Given the description of an element on the screen output the (x, y) to click on. 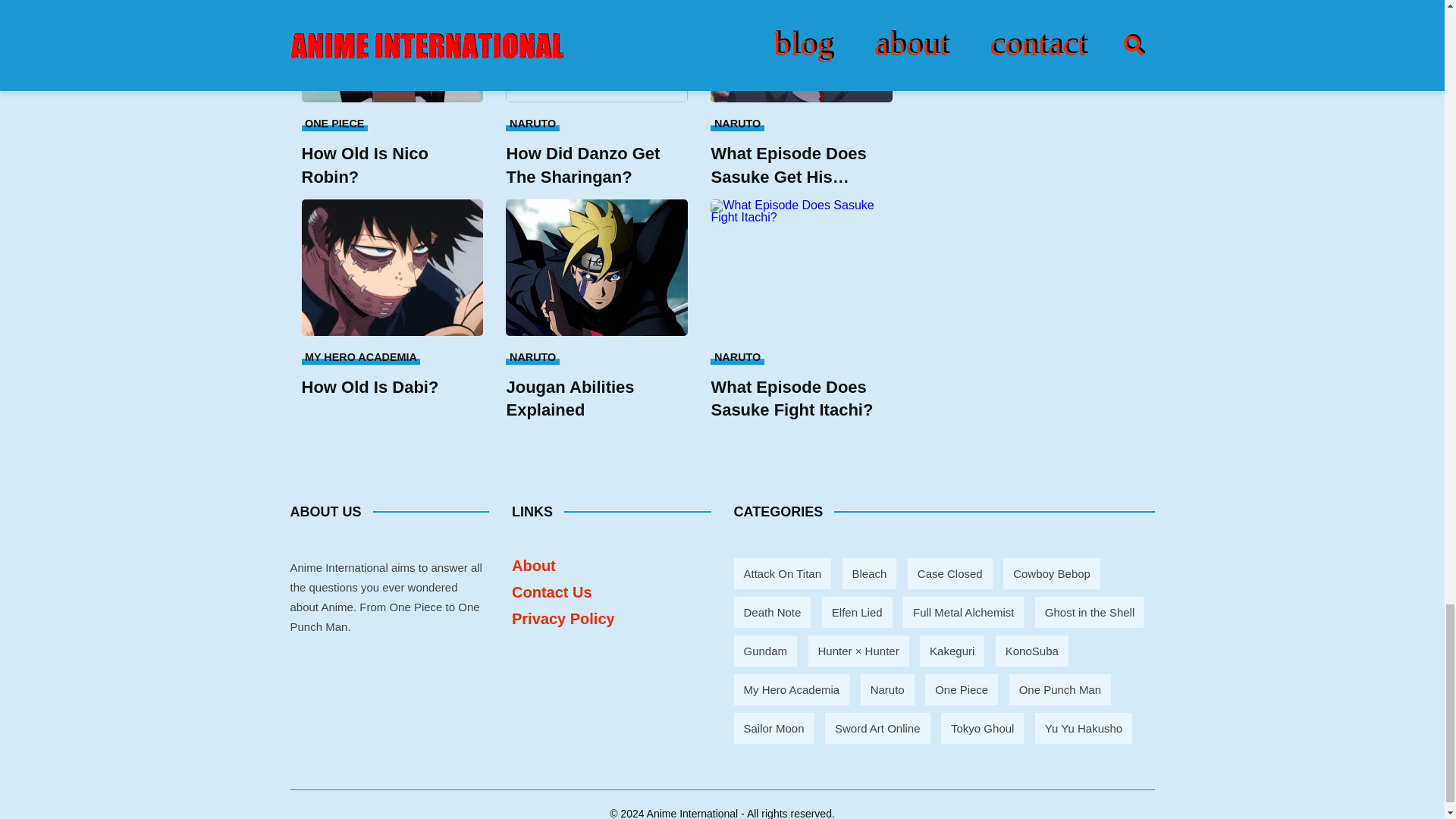
How Old Is Nico Robin? (392, 165)
Jougan Abilities Explained (596, 267)
How Did Danzo Get The Sharingan? (596, 51)
NARUTO (532, 123)
MY HERO ACADEMIA (360, 356)
What Episode Does Sasuke Get His Rinnengan? (801, 165)
NARUTO (532, 356)
How Old Is Dabi? (392, 386)
Jougan Abilities Explained (596, 398)
What Episode does Sasuke get his Rinnengan? (801, 51)
ONE PIECE (334, 123)
How Old is Dabi? (392, 267)
How old is Nico Robin? (392, 51)
NARUTO (736, 123)
How Did Danzo Get The Sharingan? (596, 165)
